Given the description of an element on the screen output the (x, y) to click on. 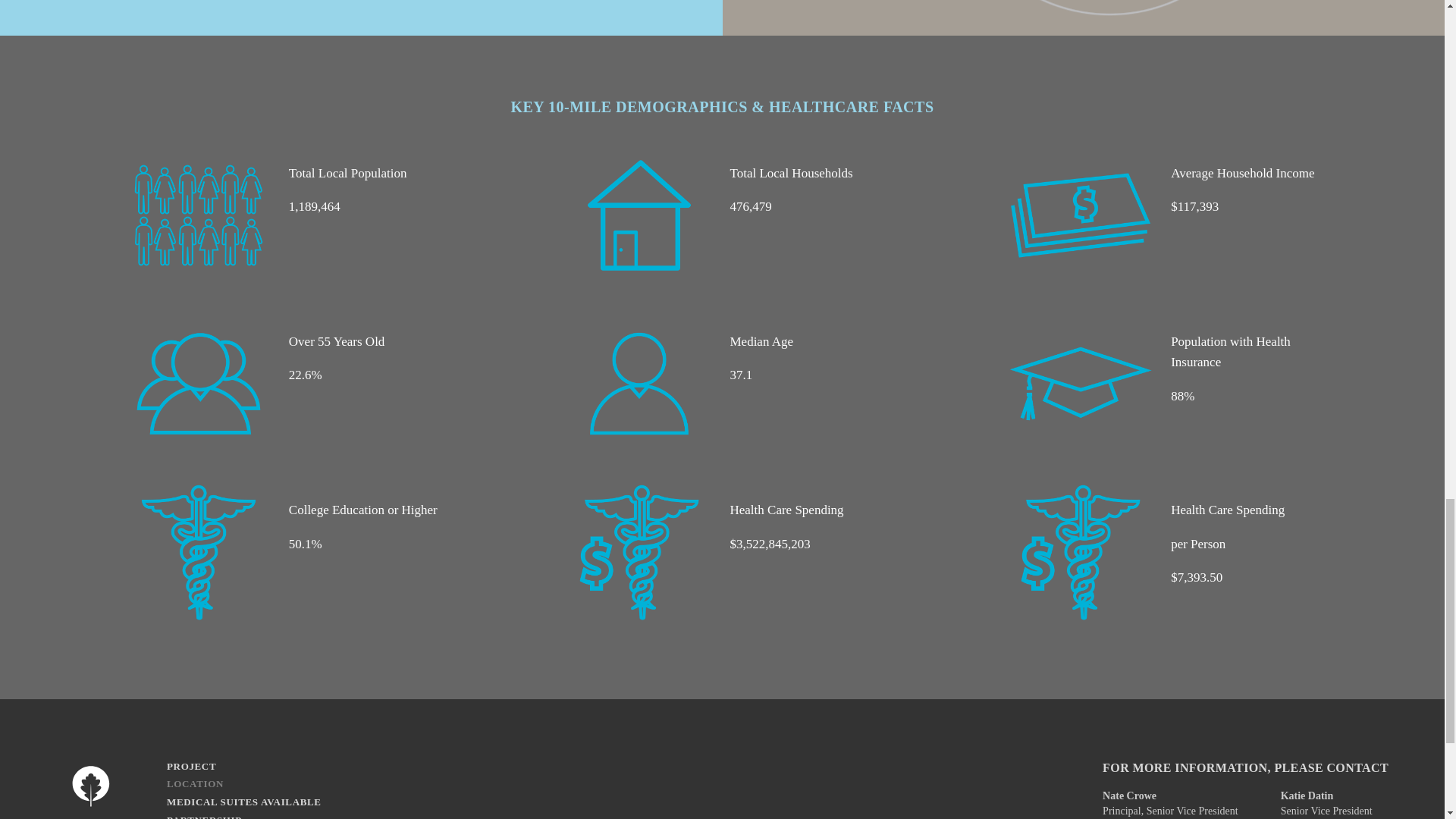
PROJECT (244, 766)
MEDICAL SUITES AVAILABLE (244, 802)
PARTNERSHIP (244, 815)
LOCATION (244, 783)
